Given the description of an element on the screen output the (x, y) to click on. 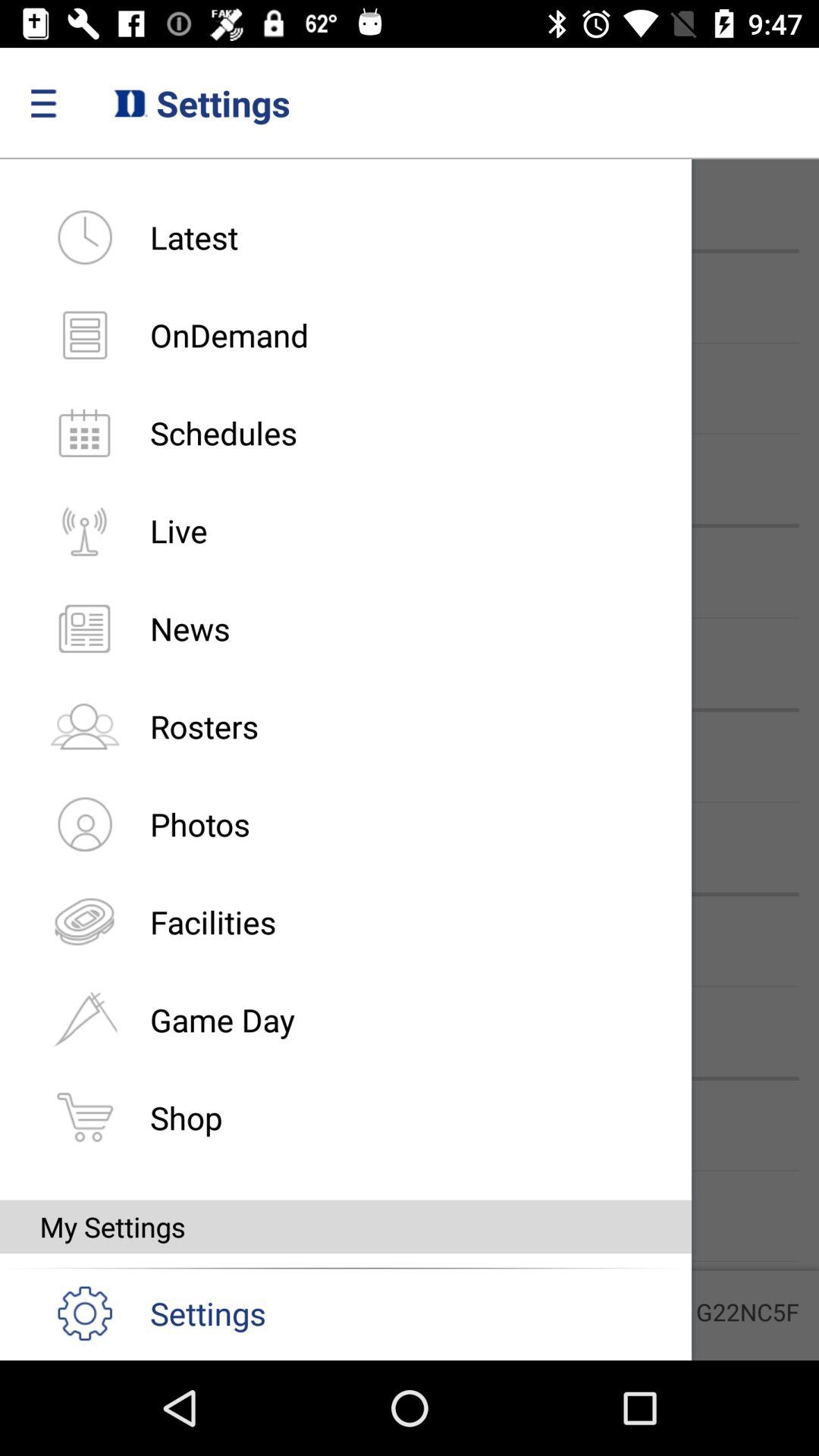
click the icon at left side of rosters (84, 726)
click on the eighth option under settings (84, 921)
click on the icon left to the text ondemand (84, 334)
click on flag symbol which is on the left of game day (84, 1019)
select settings (143, 1311)
go to left of news (84, 628)
